Given the description of an element on the screen output the (x, y) to click on. 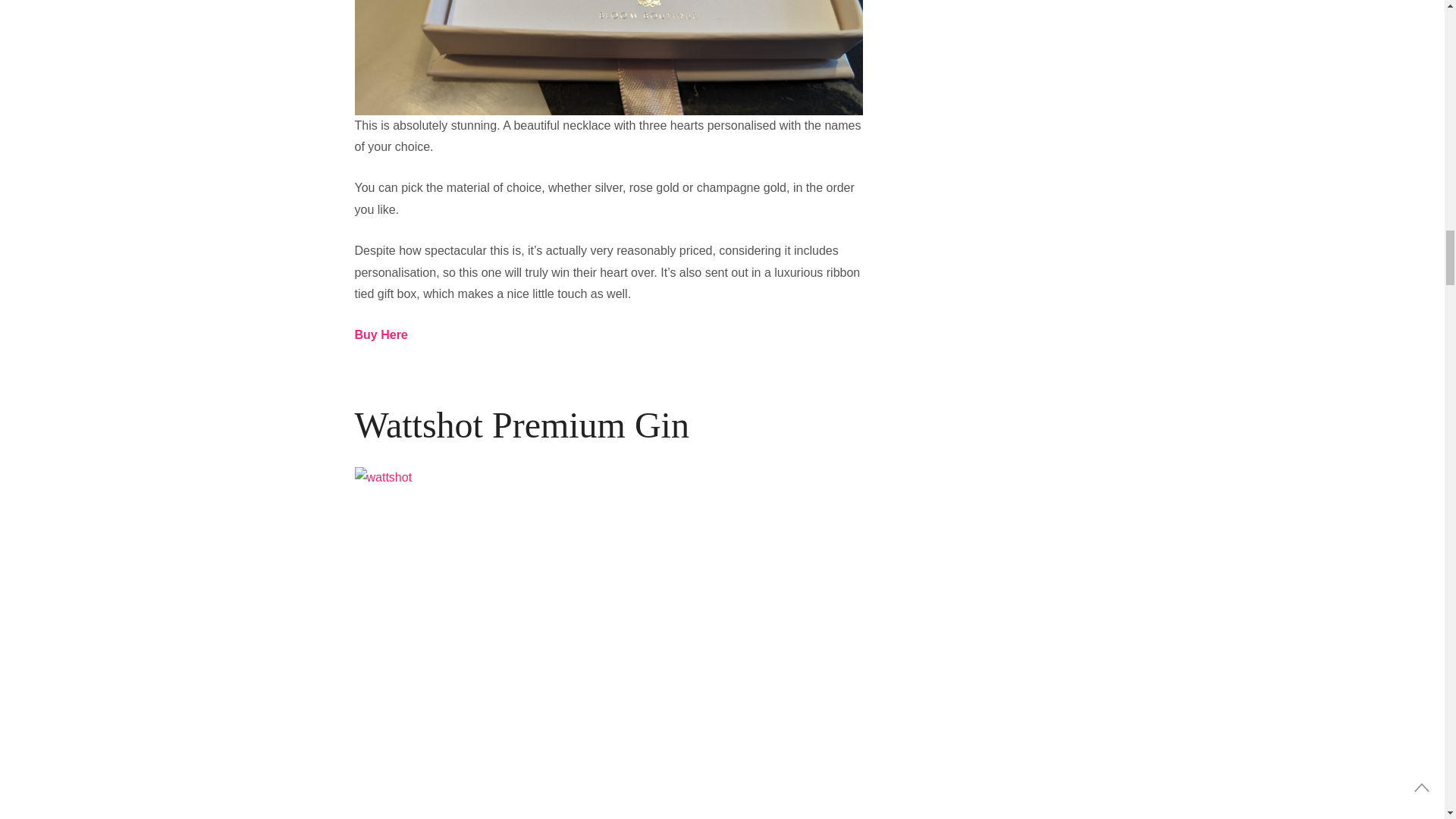
Buy Here (381, 334)
